Given the description of an element on the screen output the (x, y) to click on. 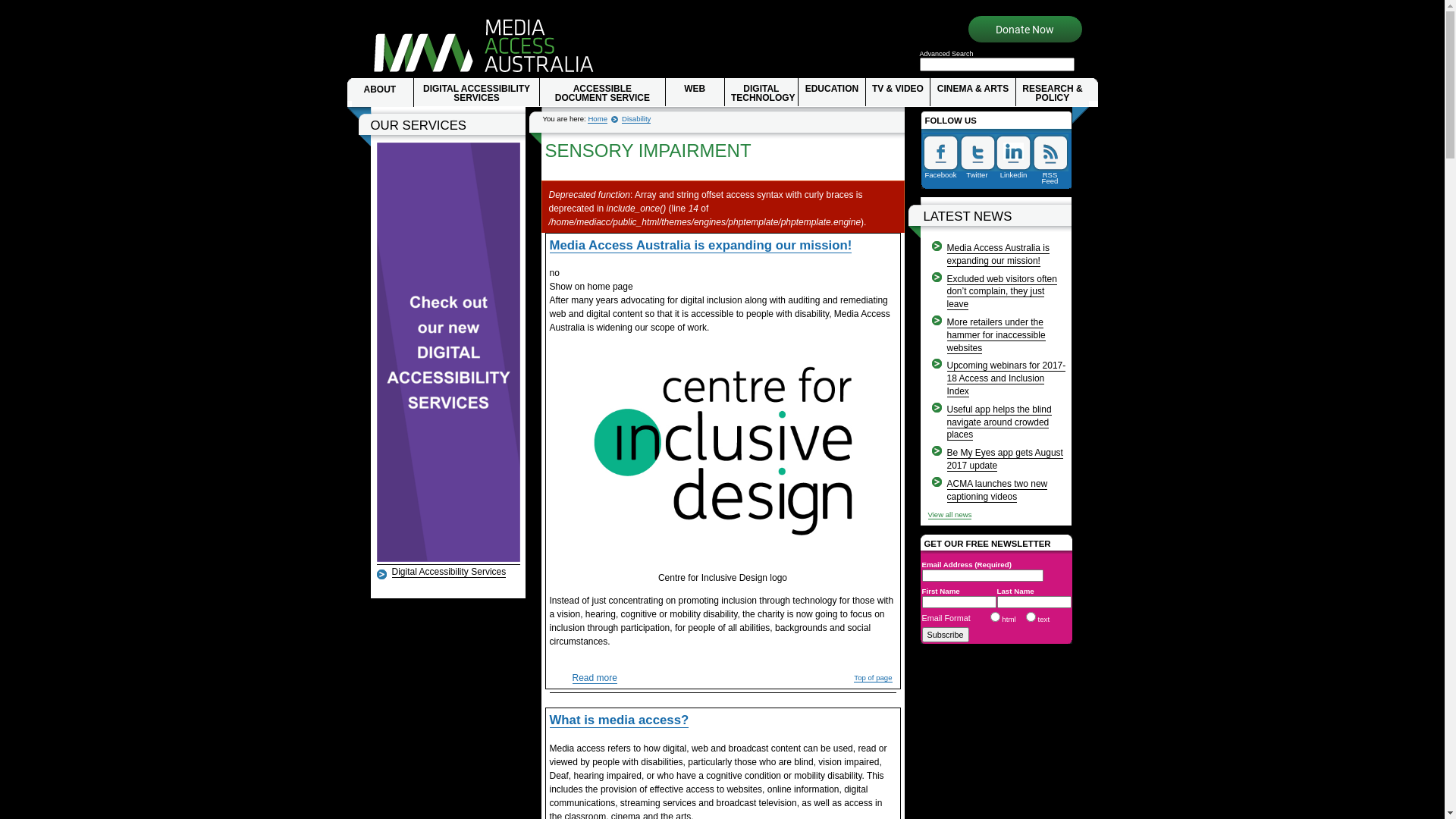
Be My Eyes app gets August 2017 update Element type: text (1004, 459)
RSS
Feed Element type: text (1049, 157)
Upcoming webinars for 2017-18 Access and Inclusion Index Element type: text (1005, 378)
Home Element type: hover (483, 46)
ACCESSIBLE DOCUMENT SERVICE Element type: text (602, 92)
More retailers under the hammer for inaccessible websites Element type: text (995, 335)
Search Element type: text (15, 6)
ACMA launches two new captioning videos Element type: text (996, 490)
Linkedin Element type: text (1012, 157)
Enter the terms you wish to search for. Element type: hover (996, 64)
Facebook Element type: text (940, 157)
CINEMA & ARTS Element type: text (972, 92)
Media Access Australia is expanding our mission! Element type: text (997, 254)
DIGITAL TECHNOLOGY Element type: text (761, 92)
Useful app helps the blind navigate around crowded places Element type: text (998, 422)
Digital Accessibility Services Element type: text (448, 571)
ABOUT Element type: text (382, 92)
Twitter Element type: text (976, 157)
TV & VIDEO Element type: text (898, 92)
Advanced Search Element type: text (945, 53)
RESEARCH & POLICY Element type: text (1052, 92)
Subscribe Element type: text (945, 634)
Media Access Australia is expanding our mission! Element type: text (700, 245)
View all news Element type: text (950, 514)
Donate Now Element type: text (1024, 29)
Check out our new Digital Accessibility Services Element type: hover (447, 558)
Home Element type: text (597, 118)
EDUCATION Element type: text (831, 92)
DIGITAL ACCESSIBILITY SERVICES Element type: text (476, 92)
What is media access? Element type: text (618, 720)
Disability Element type: text (635, 118)
Centre for Inclusive Design logo Element type: hover (722, 450)
WEB Element type: text (694, 92)
Top of page Element type: text (872, 677)
